Given the description of an element on the screen output the (x, y) to click on. 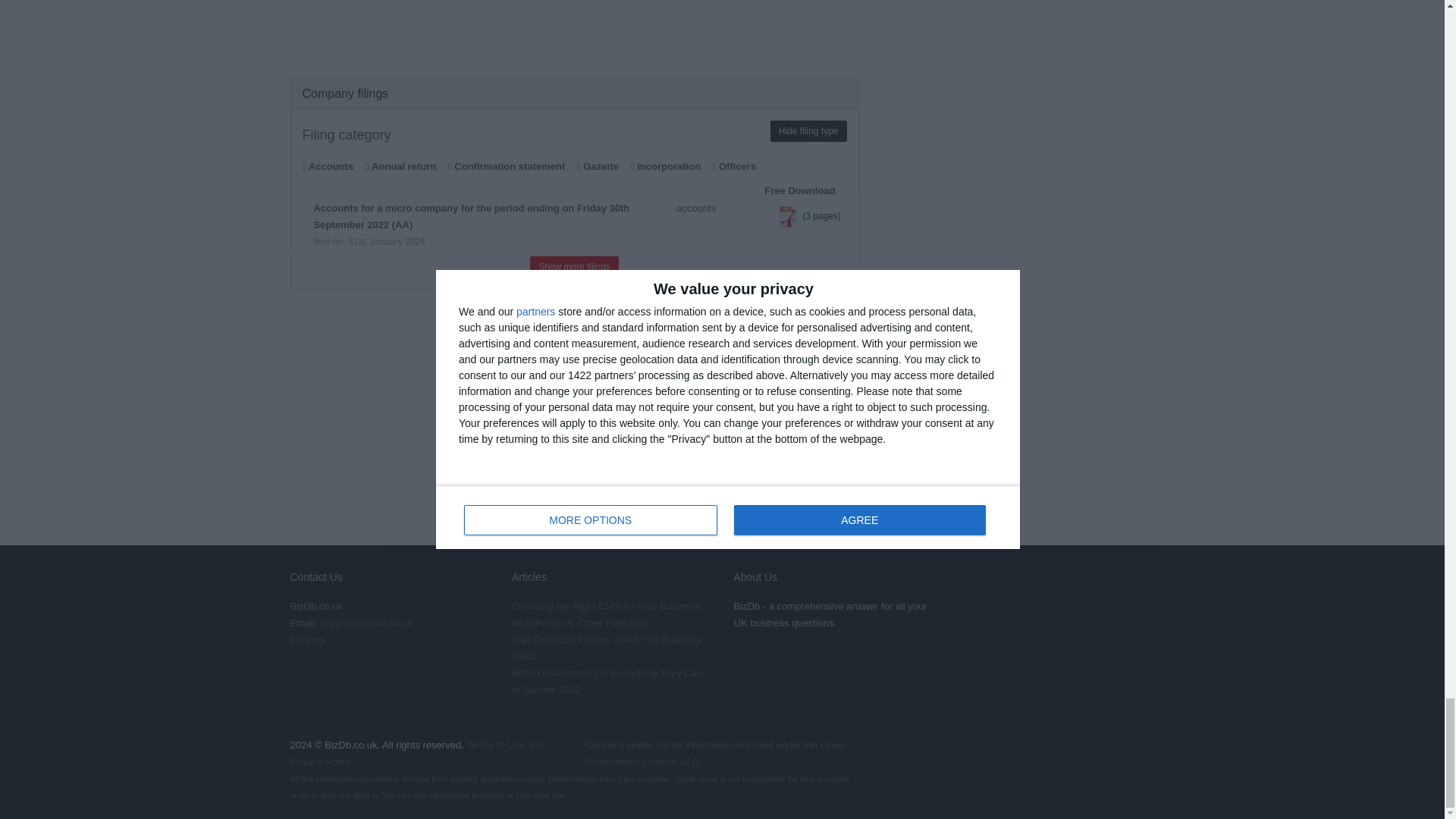
Show more filings (573, 266)
